Given the description of an element on the screen output the (x, y) to click on. 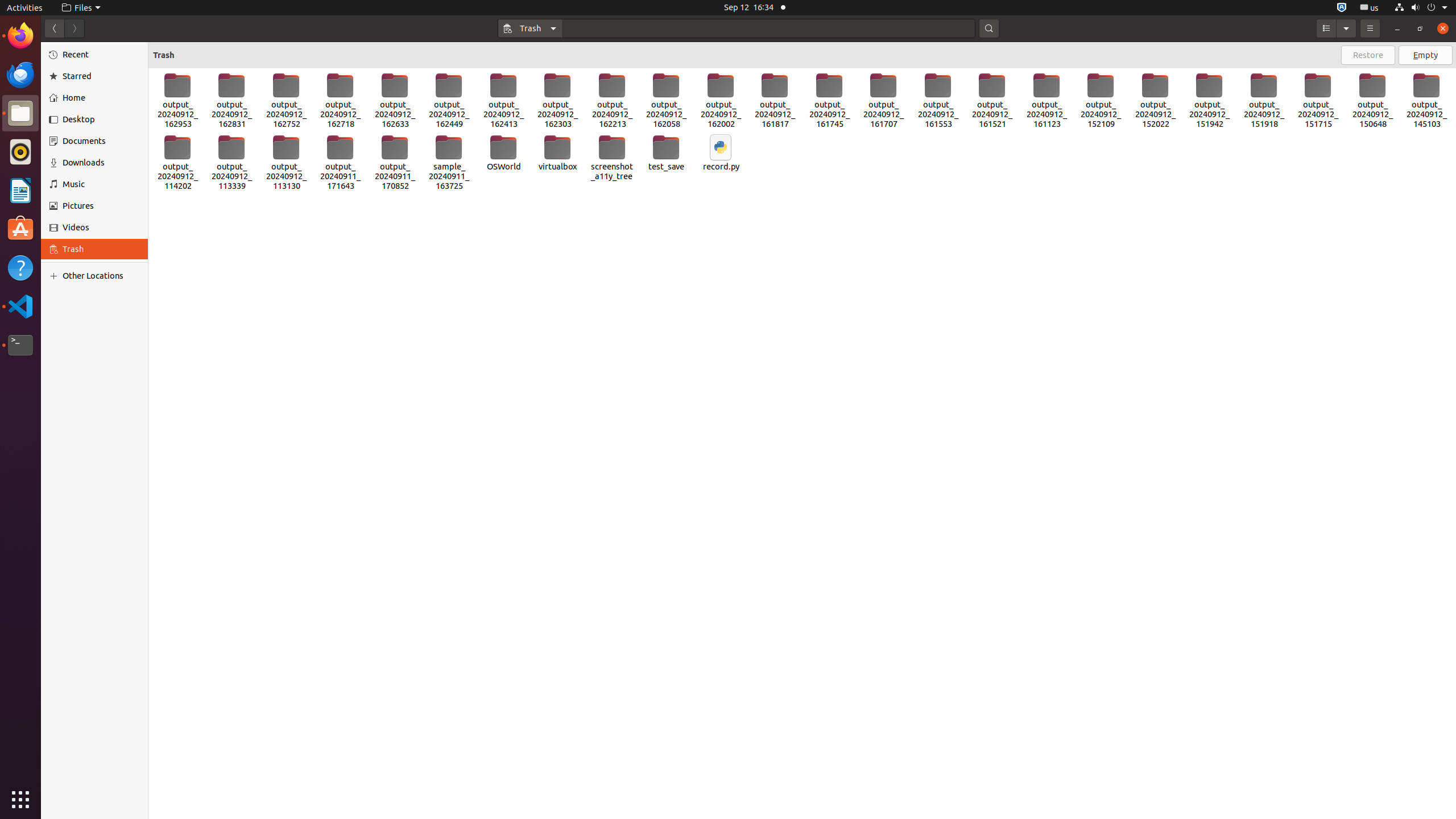
output_20240912_162413 Element type: canvas (503, 100)
Restore Element type: push-button (1368, 54)
Empty Element type: push-button (1425, 54)
Starred Element type: label (100, 75)
Close Element type: push-button (1442, 27)
